Given the description of an element on the screen output the (x, y) to click on. 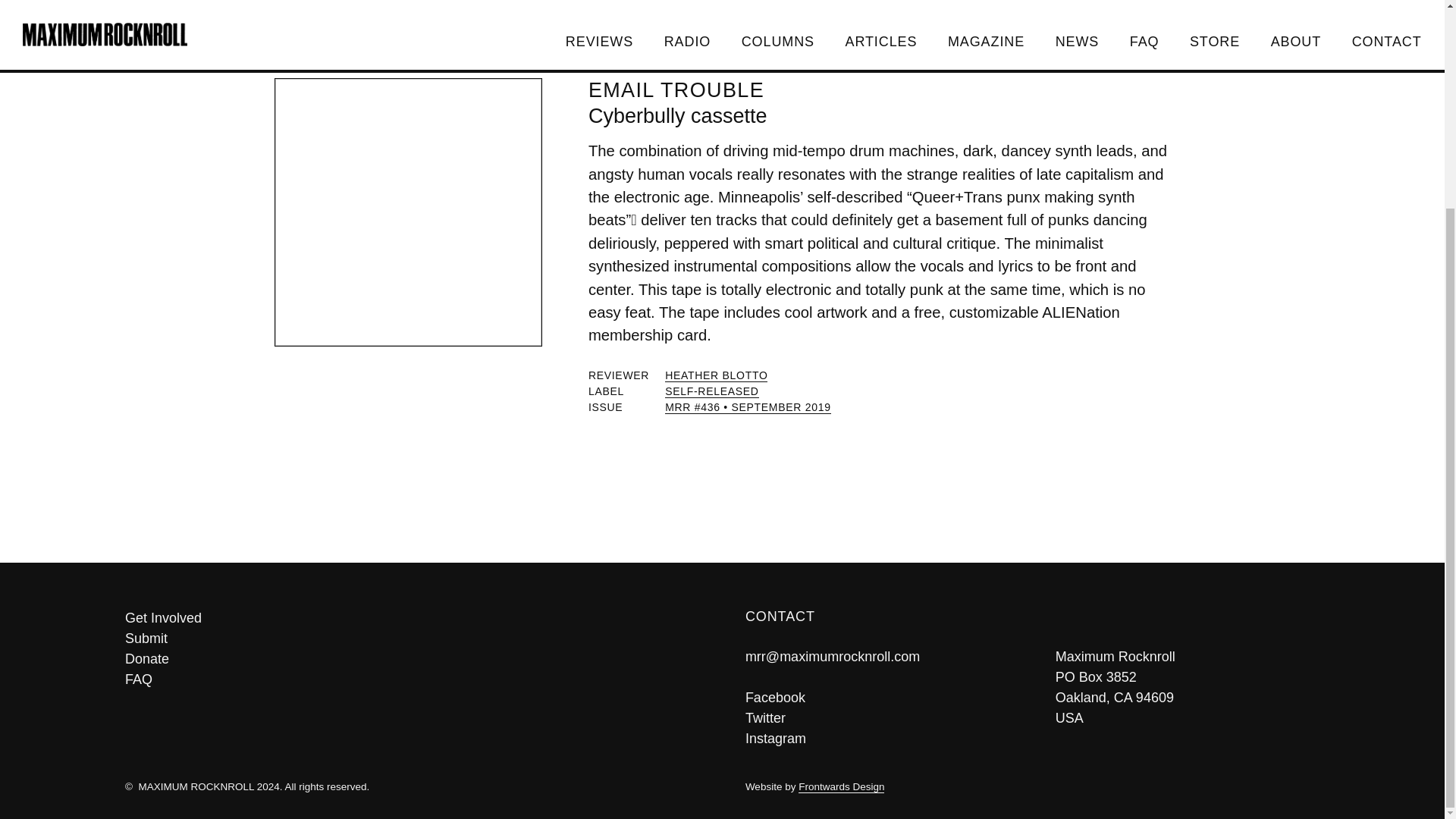
Instagram (775, 737)
Facebook (775, 696)
Frontwards Design (840, 787)
FAQ (411, 679)
Get Involved (411, 618)
EMAIL TROUBLE (676, 89)
SELF-RELEASED (711, 391)
Submit (411, 638)
HEATHER BLOTTO (716, 375)
Donate (411, 659)
Twitter (765, 717)
